Given the description of an element on the screen output the (x, y) to click on. 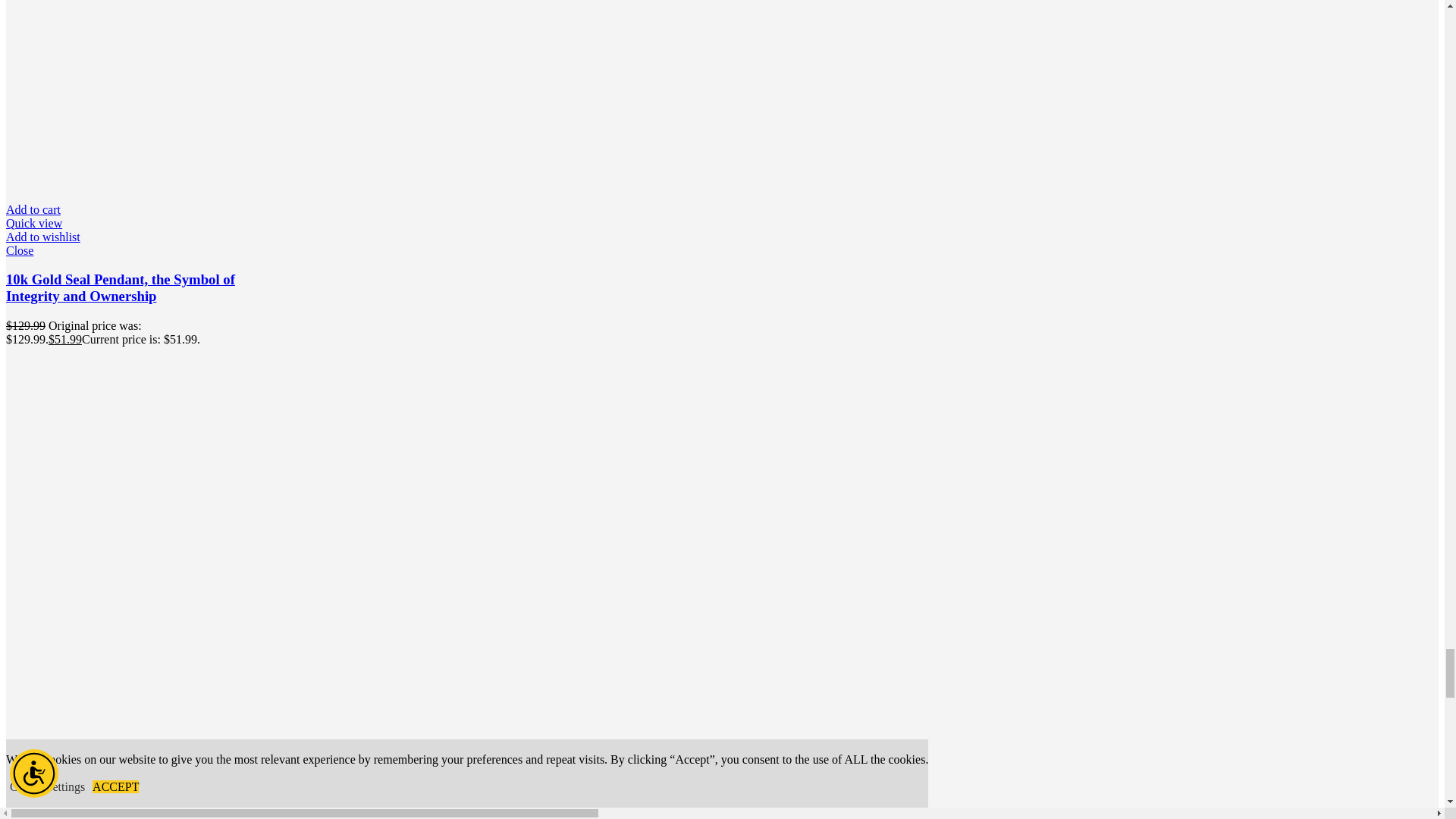
Close (121, 250)
